Given the description of an element on the screen output the (x, y) to click on. 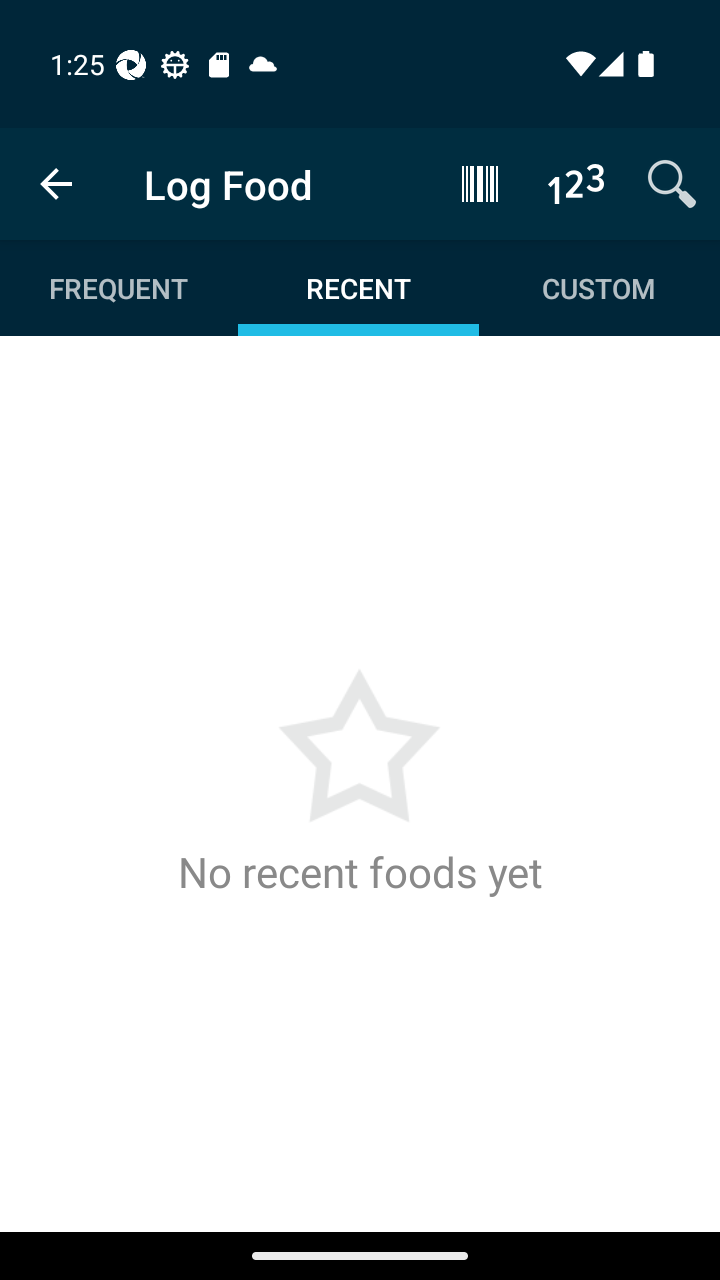
Navigate up (56, 184)
Barcode scanner (479, 183)
Add Quick Calories (575, 183)
Search database (672, 183)
FREQUENT (119, 287)
RECENT (358, 287)
CUSTOM (598, 287)
